Given the description of an element on the screen output the (x, y) to click on. 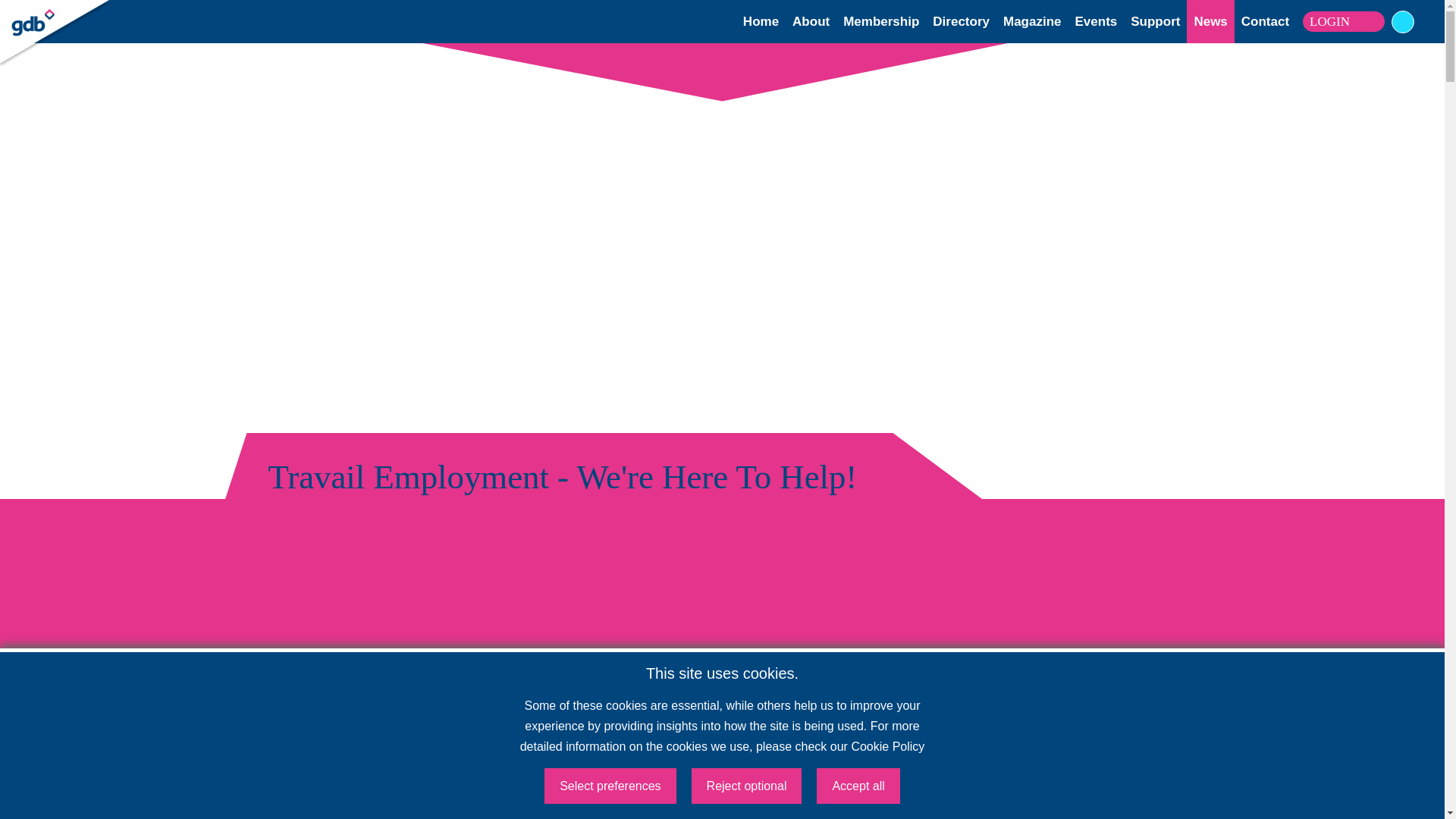
LOGIN (52, 13)
Contact (1264, 21)
Directory (961, 21)
LOGIN (1343, 21)
Membership (880, 21)
Magazine (1032, 21)
Events (1096, 21)
Support (1155, 21)
